Given the description of an element on the screen output the (x, y) to click on. 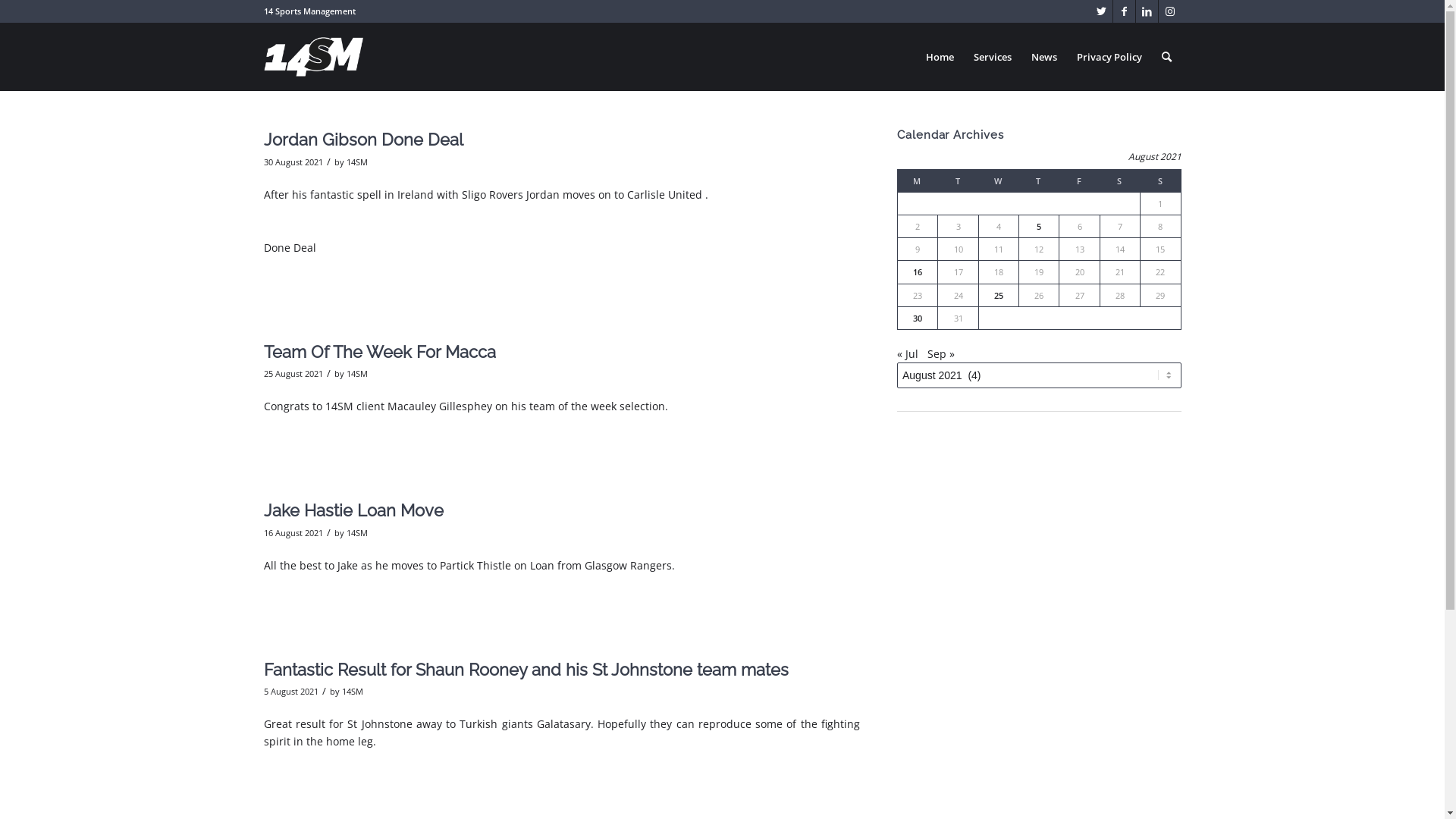
Services Element type: text (991, 56)
Instagram Element type: hover (1169, 11)
Twitter Element type: hover (1101, 11)
14SM Element type: text (356, 532)
30 Element type: text (917, 317)
Privacy Policy Element type: text (1108, 56)
14SM Element type: text (356, 373)
Facebook Element type: hover (1124, 11)
News Element type: text (1043, 56)
14SM Element type: text (351, 690)
Jordan Gibson Done Deal Element type: text (363, 139)
Jake Hastie Loan Move Element type: text (353, 510)
Team Of The Week For Macca Element type: text (379, 351)
16 Element type: text (917, 271)
25 Element type: text (998, 295)
logos Element type: hover (313, 49)
LinkedIn Element type: hover (1146, 11)
Home Element type: text (939, 56)
14SM Element type: text (356, 161)
5 Element type: text (1038, 226)
